Given the description of an element on the screen output the (x, y) to click on. 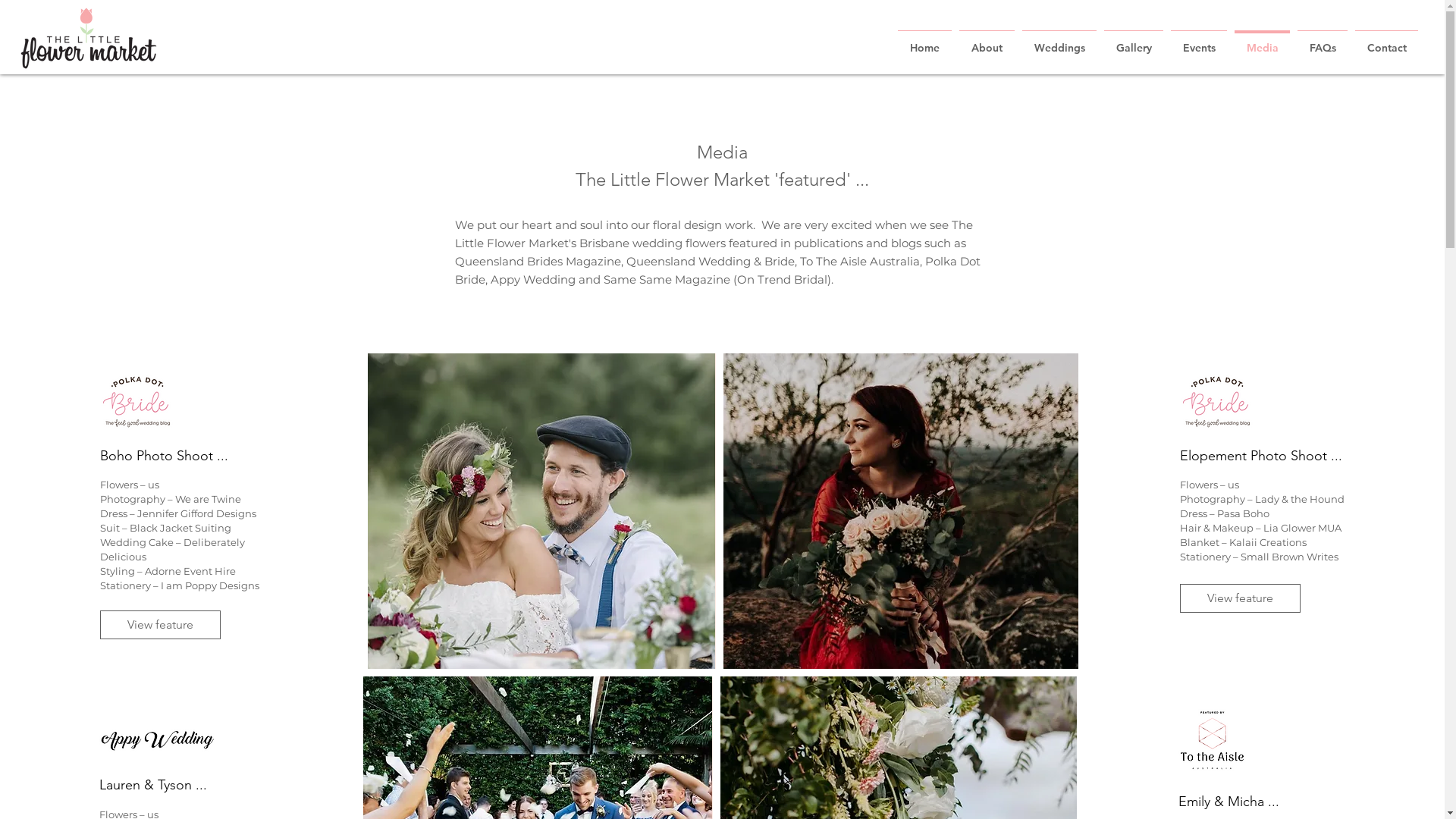
FAQs Element type: text (1322, 41)
Same Same Magazine (On Trend Bridal) Element type: text (717, 279)
Weddings Element type: text (1059, 41)
Home Element type: text (924, 41)
Appy Wedding Element type: text (531, 279)
Events Element type: text (1198, 41)
. Element type: text (832, 279)
About Element type: text (986, 41)
View feature Element type: text (160, 624)
To The Aisle Australia Element type: text (859, 261)
View feature Element type: text (1239, 597)
Contact Element type: text (1386, 41)
Media Element type: text (1261, 41)
Queensland Brides Magazine Element type: text (538, 261)
Polka Dot Bride Element type: text (717, 270)
Queensland Wedding & Bride Element type: text (710, 261)
